Given the description of an element on the screen output the (x, y) to click on. 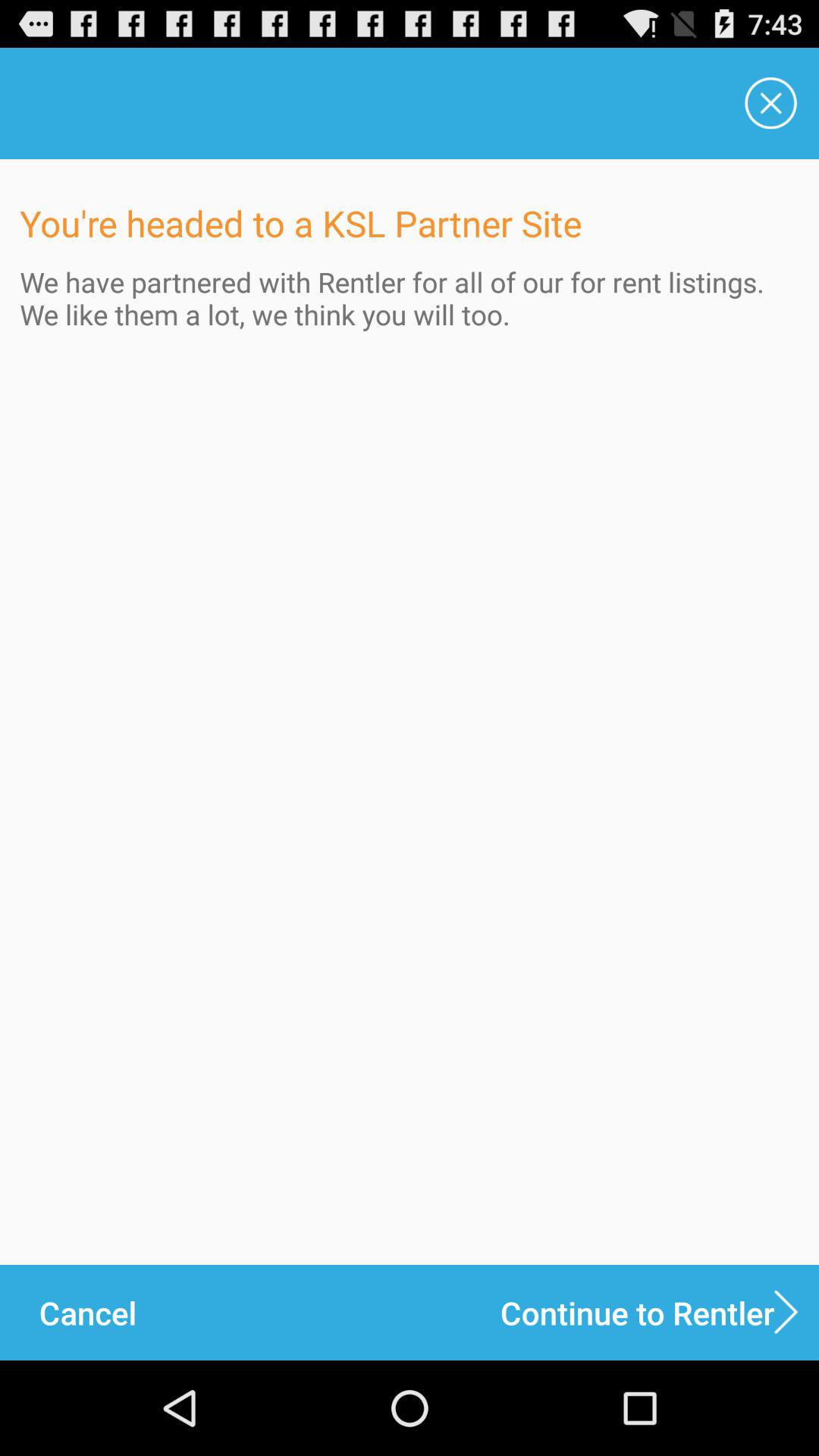
press the icon at the top right corner (771, 103)
